Given the description of an element on the screen output the (x, y) to click on. 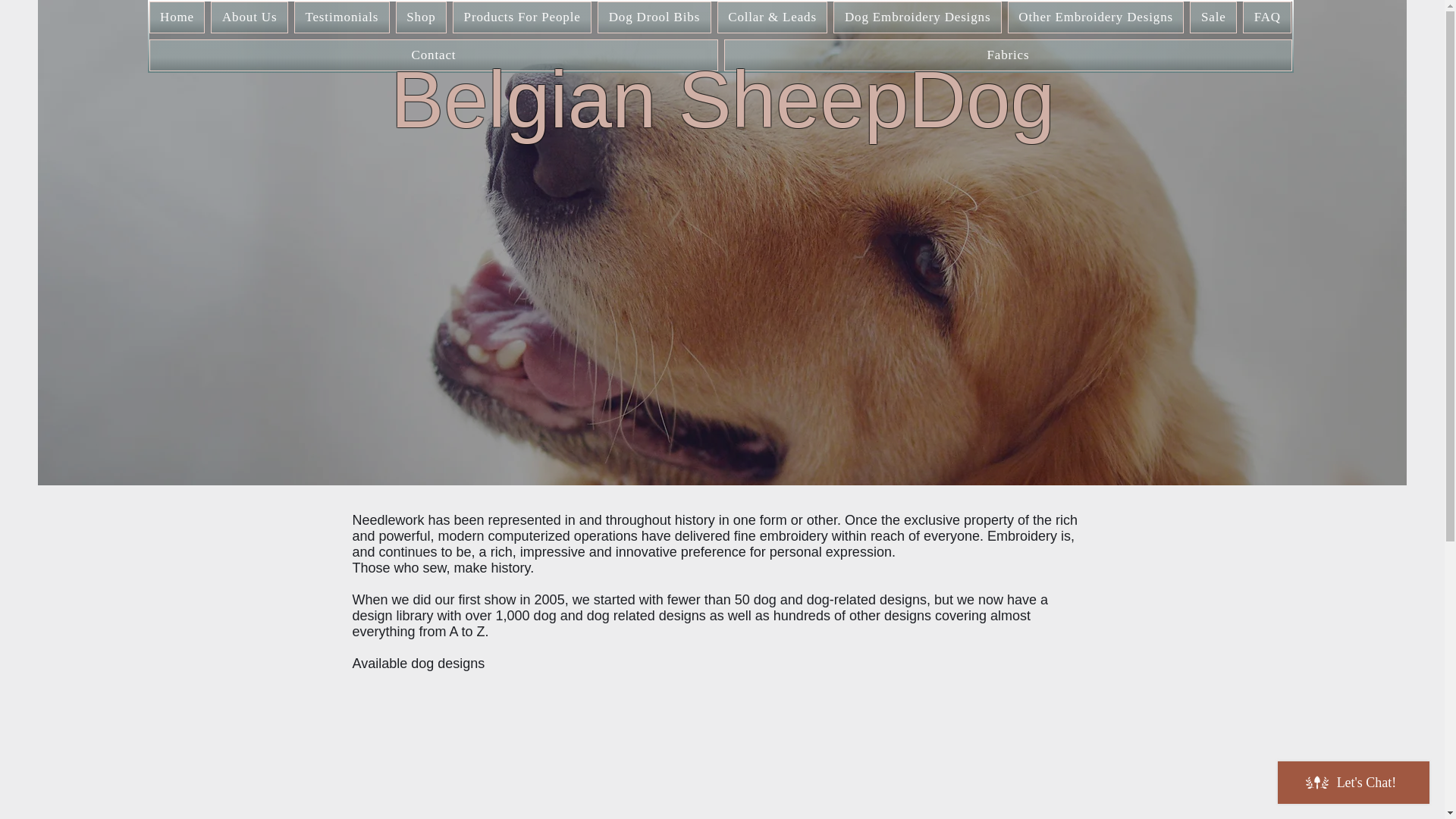
Dog Embroidery Designs (916, 17)
Other Embroidery Designs (1096, 17)
Testimonials (342, 17)
Sale (1212, 17)
Contact (432, 55)
About Us (248, 17)
Home (176, 17)
Shop (421, 17)
FAQ (1267, 17)
Fabrics (1007, 55)
